Given the description of an element on the screen output the (x, y) to click on. 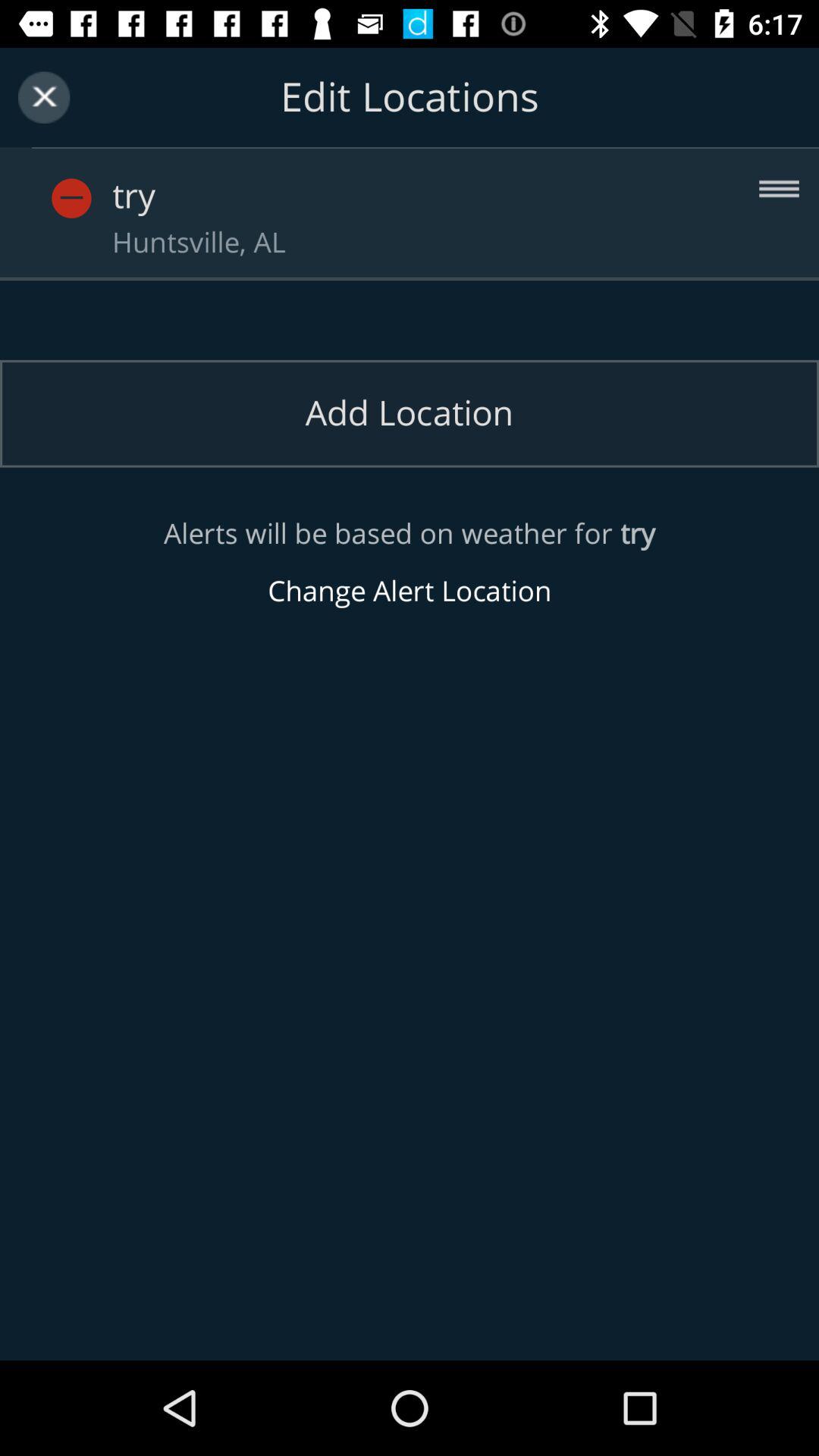
profile image (71, 198)
